Given the description of an element on the screen output the (x, y) to click on. 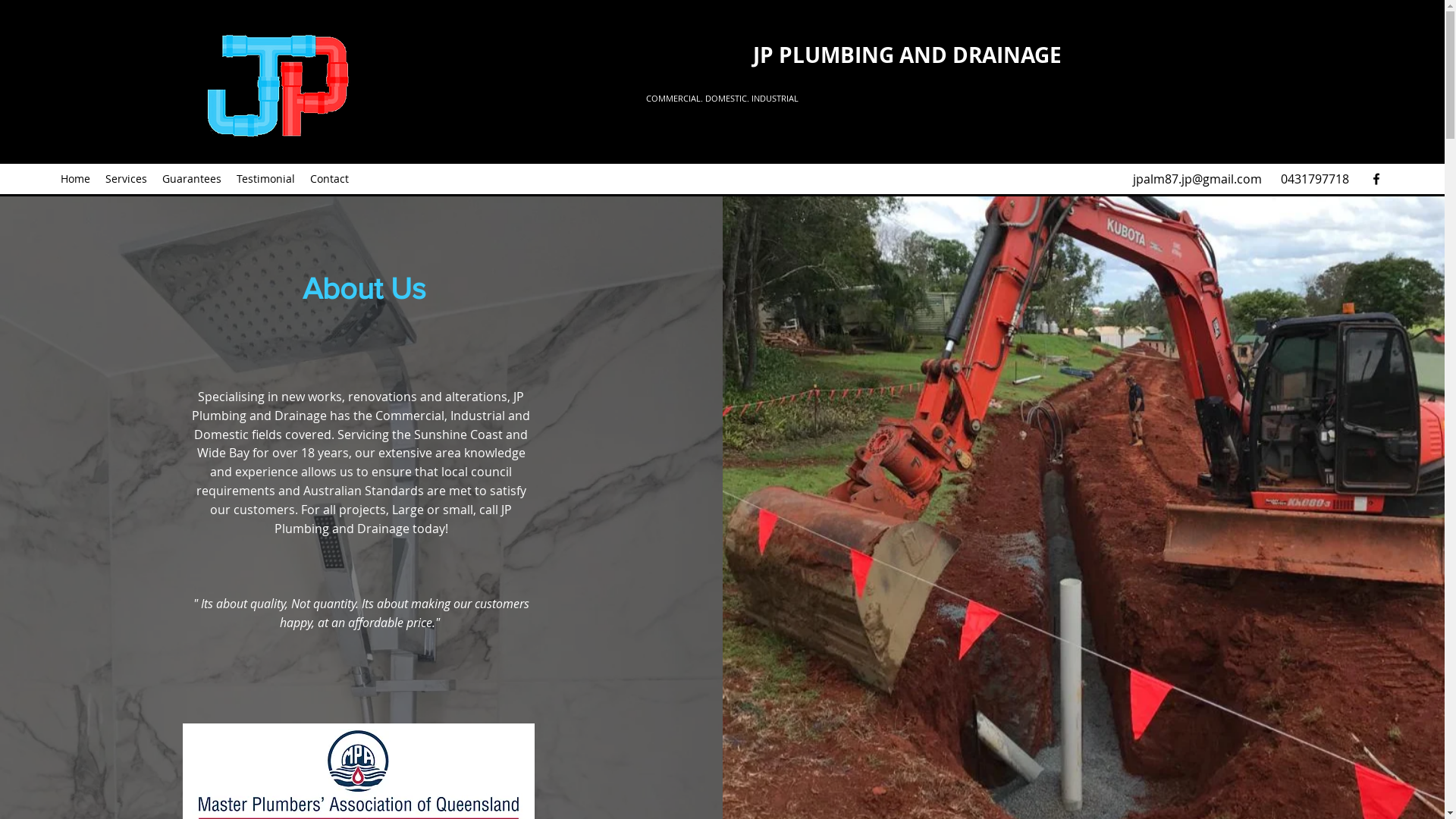
jpalm87.jp@gmail.com Element type: text (1196, 178)
Contact Element type: text (329, 178)
JP PLUMBING AND DRAINAGE Element type: text (907, 54)
Testimonial Element type: text (265, 178)
Services Element type: text (125, 178)
Guarantees Element type: text (191, 178)
Home Element type: text (75, 178)
